Given the description of an element on the screen output the (x, y) to click on. 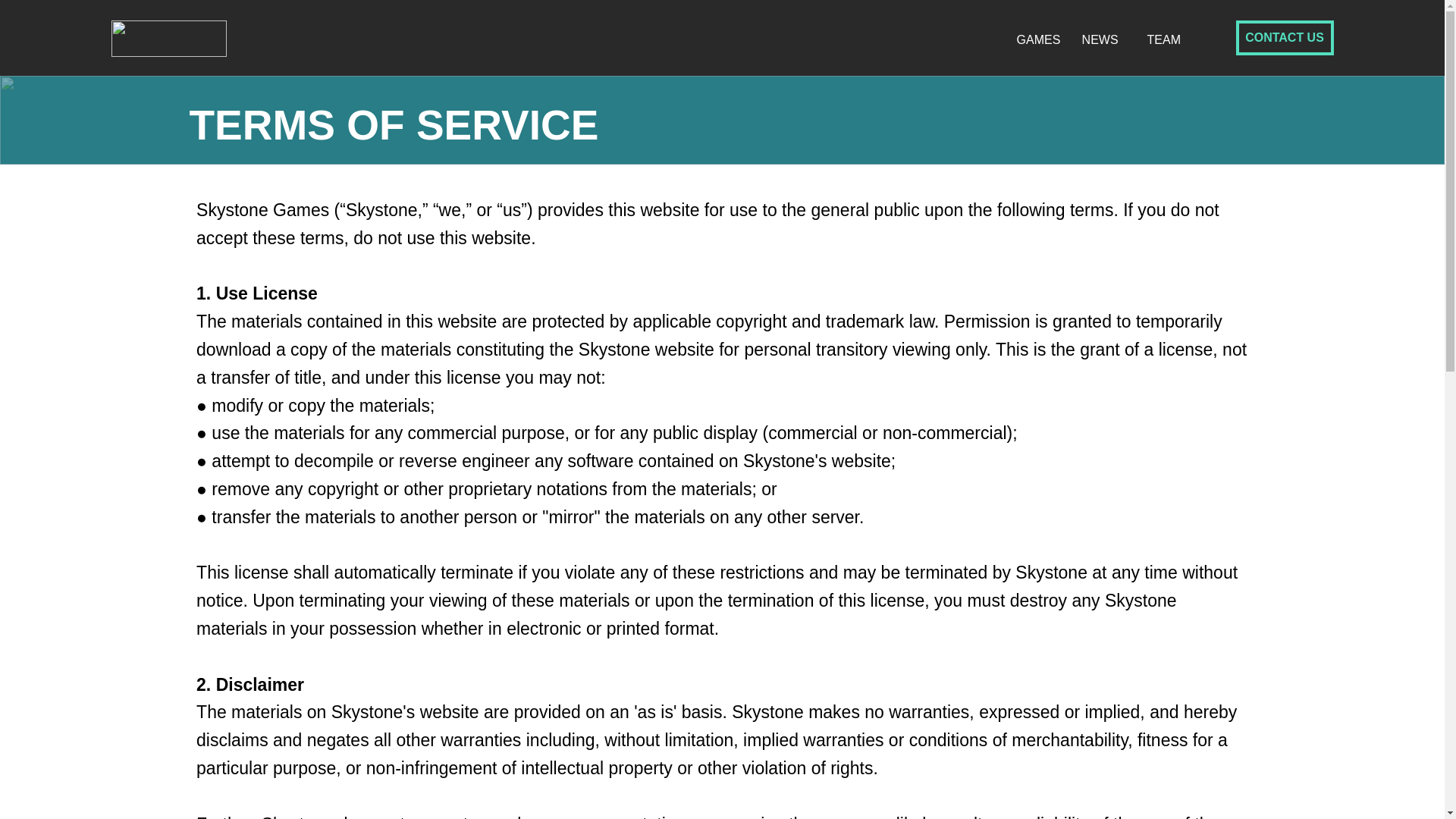
CONTACT US (1284, 37)
TEAM (1168, 39)
NEWS (1102, 39)
GAMES (1038, 39)
